Given the description of an element on the screen output the (x, y) to click on. 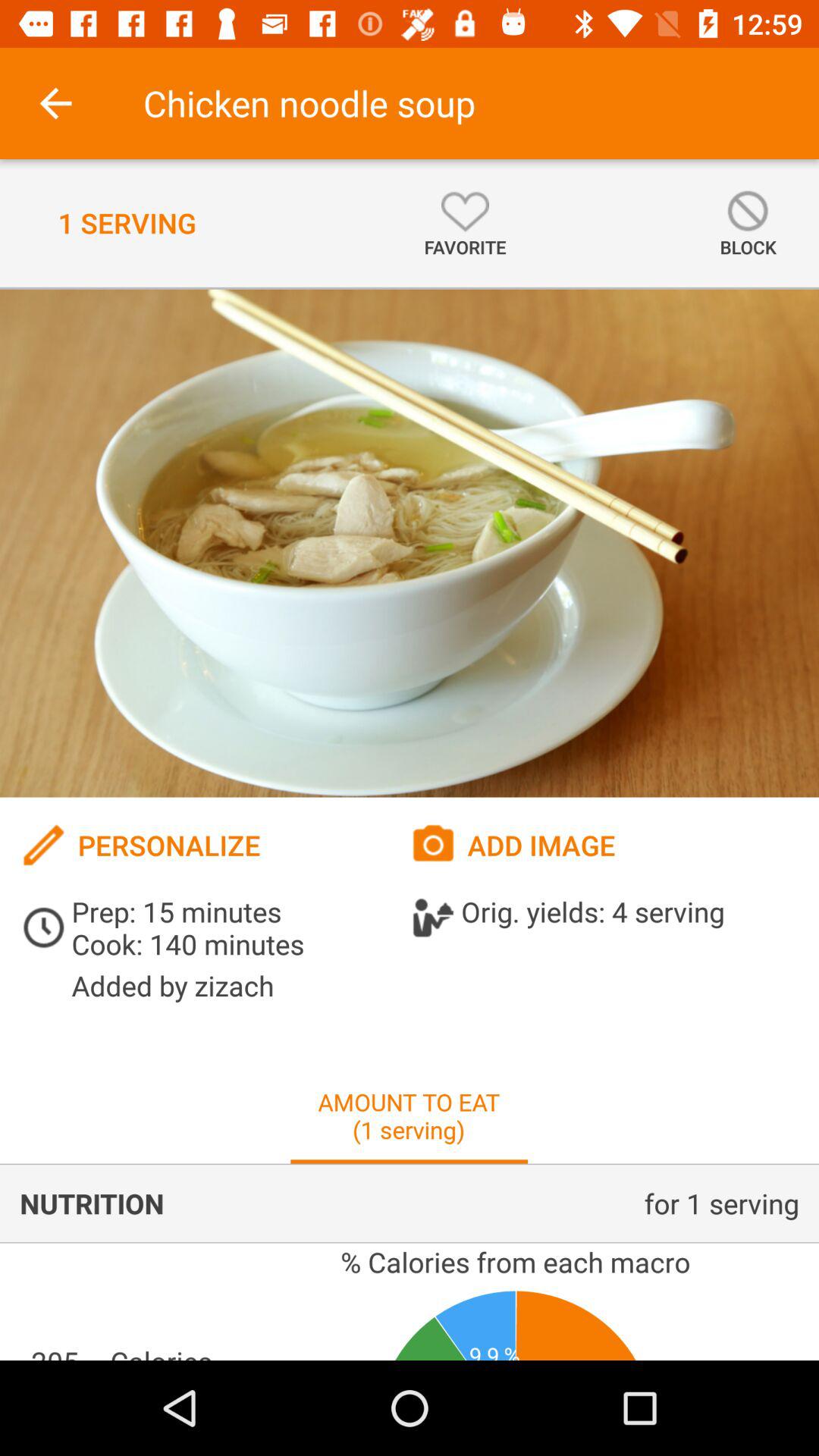
flip to favorite icon (464, 223)
